Given the description of an element on the screen output the (x, y) to click on. 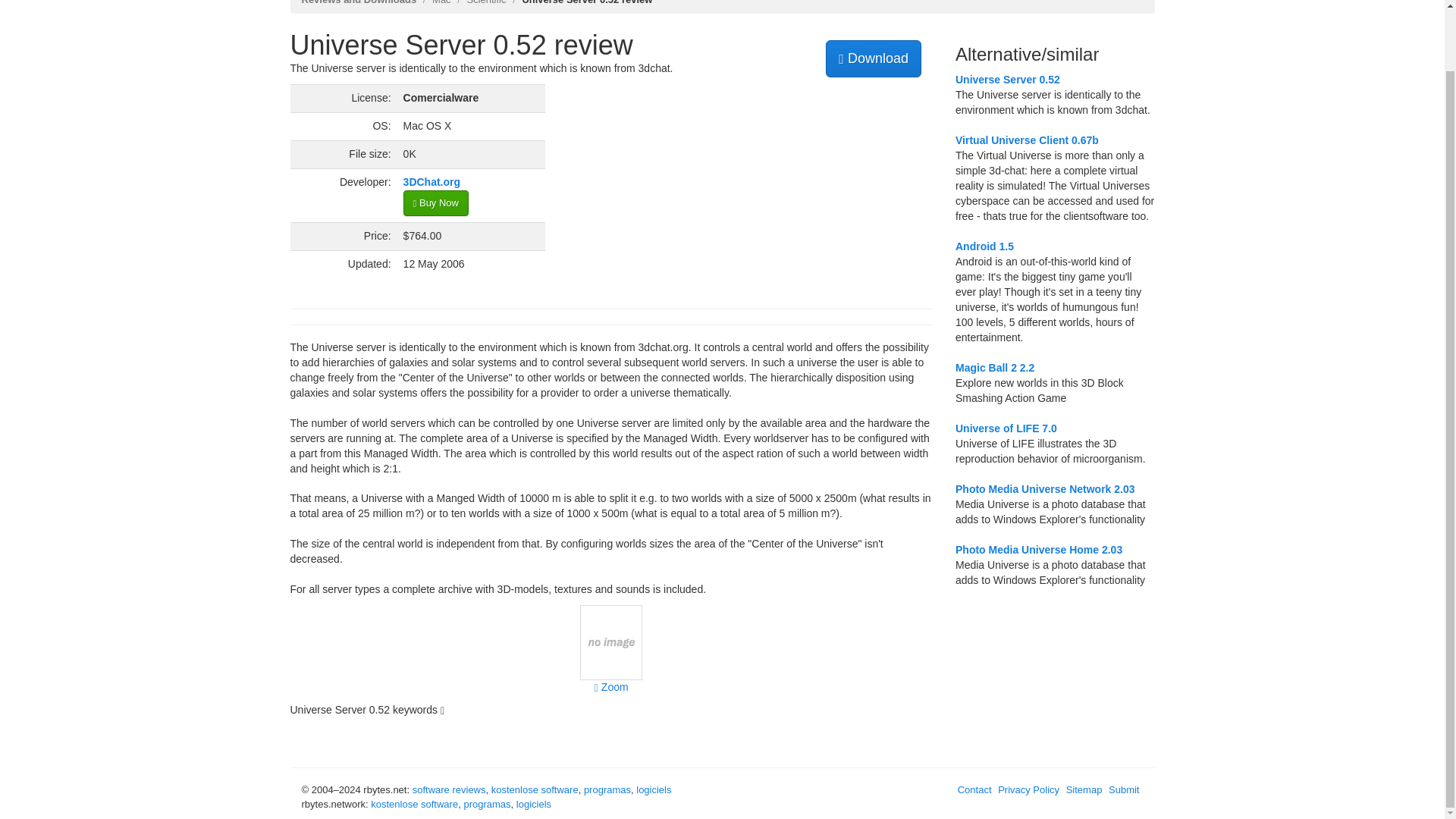
Privacy Policy (1029, 789)
Android 1.5 (984, 246)
Universe Server 0.52 (1007, 79)
Mac (441, 2)
Purchase Universe Server (435, 203)
logiciels (653, 789)
Universe of LIFE 7.0 (1006, 428)
Scientific (485, 2)
kostenlose software (414, 803)
programas (606, 789)
kostenlose software (535, 789)
Submit (1125, 789)
Contact (976, 789)
Download (873, 58)
Photo Media Universe Home 2.03 (1038, 549)
